Given the description of an element on the screen output the (x, y) to click on. 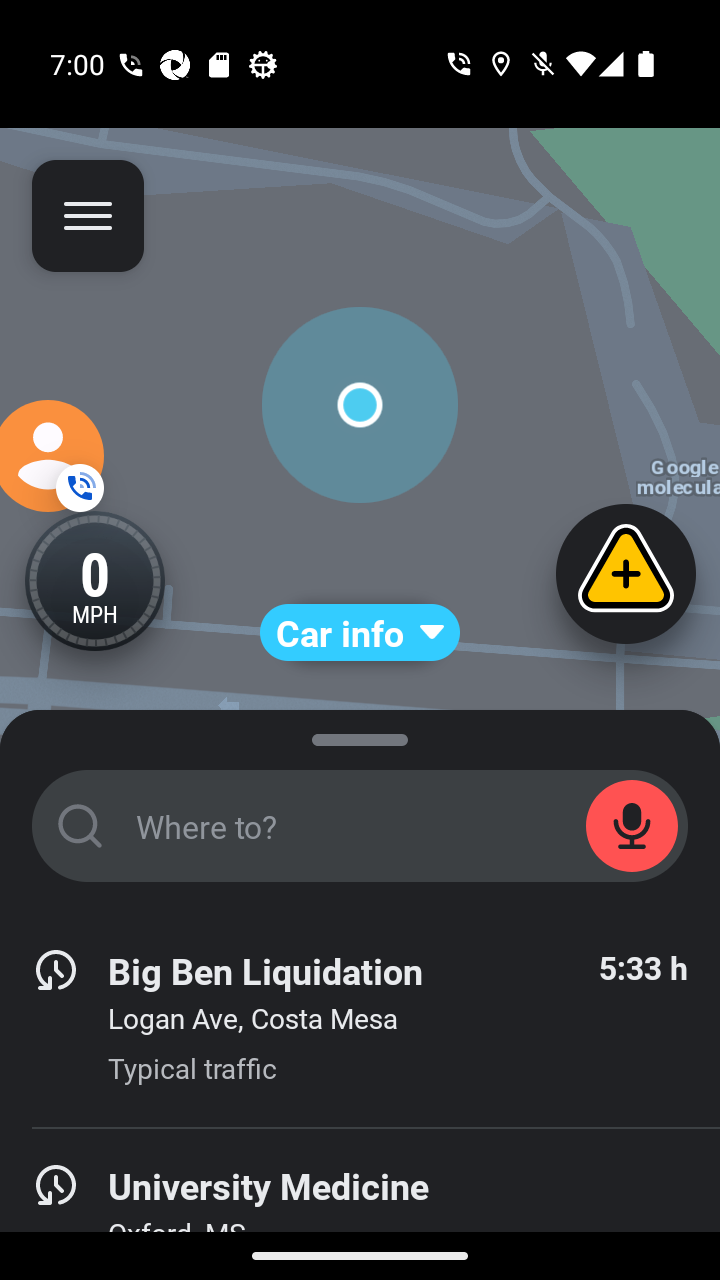
Car info (359, 632)
SUGGESTIONS_SHEET_DRAG_HANDLE (359, 735)
START_STATE_SEARCH_FIELD Where to? (359, 825)
University Medicine Oxford, MS (360, 1204)
